Given the description of an element on the screen output the (x, y) to click on. 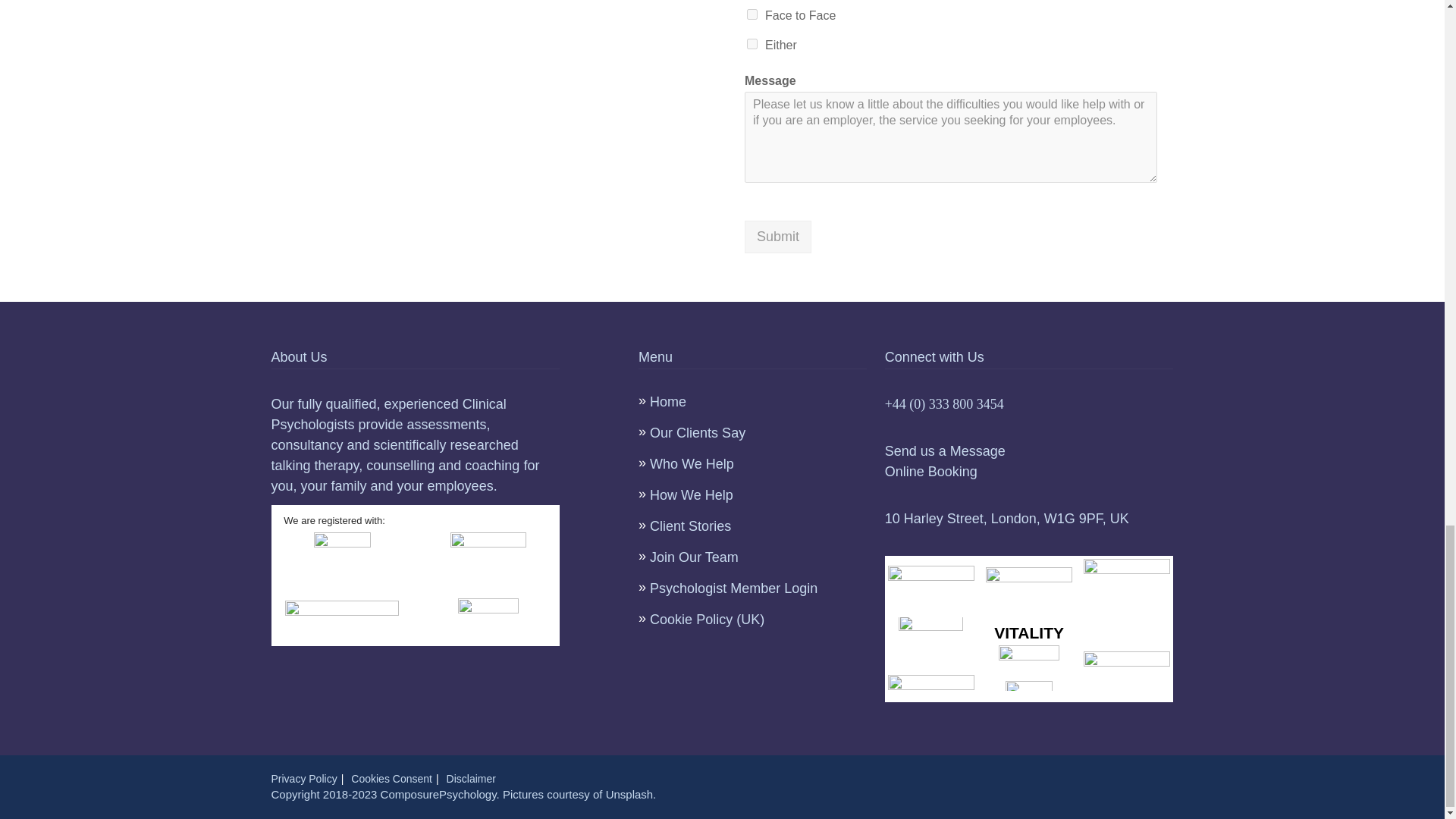
Either (751, 43)
Join Our Team (693, 557)
Psychologist Member Login (732, 588)
Our Clients Say (697, 432)
Face to Face (751, 14)
Disclaimer (471, 778)
Aviva (1029, 685)
Online Booking (930, 471)
Home (667, 401)
Client Stories (689, 525)
Cookies Consent (391, 778)
How We Help (691, 494)
Who We Help (691, 463)
Submit (777, 236)
Privacy Policy (303, 778)
